Given the description of an element on the screen output the (x, y) to click on. 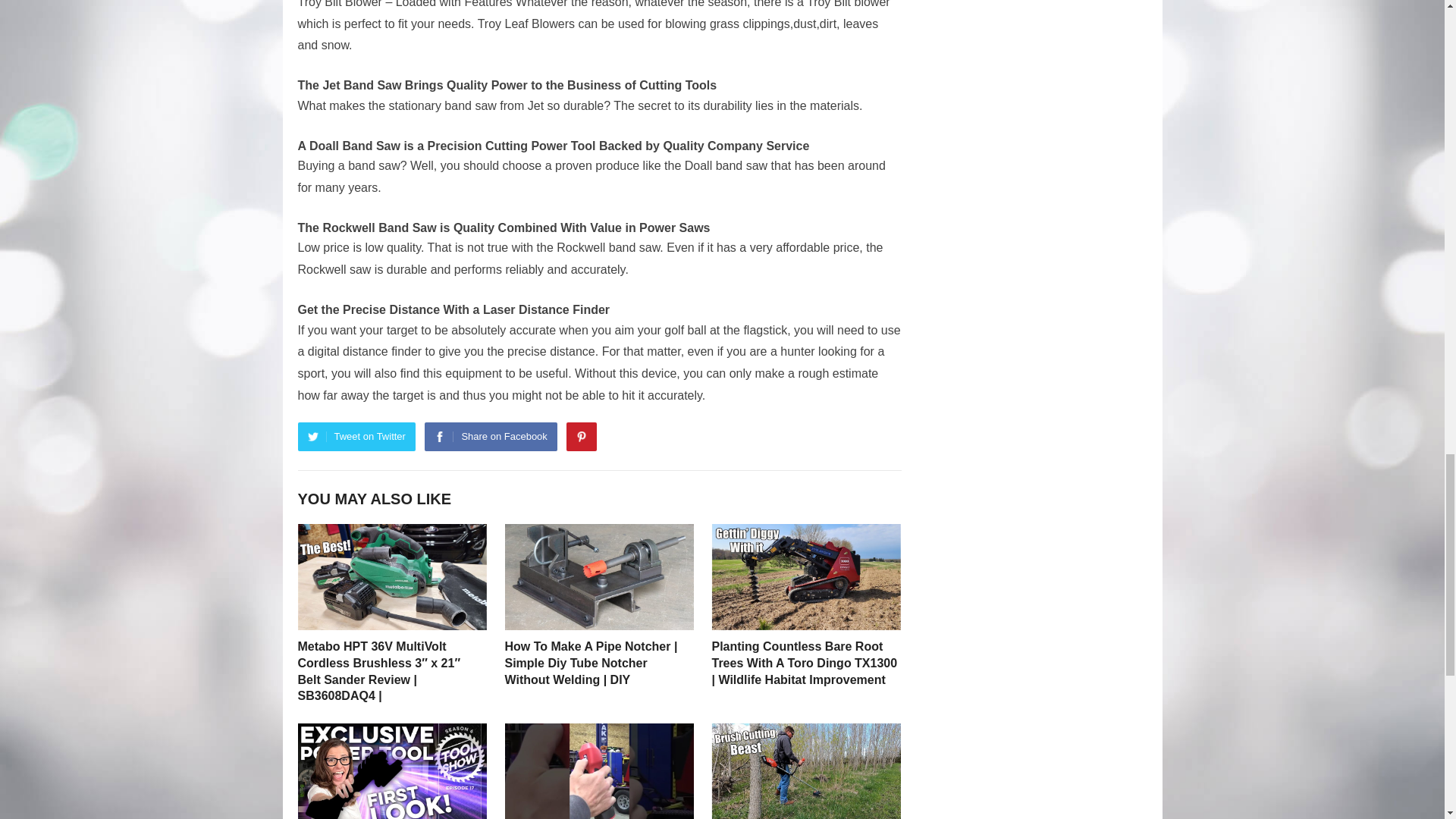
Tweet on Twitter (355, 436)
Share on Facebook (490, 436)
Pinterest (581, 436)
